Given the description of an element on the screen output the (x, y) to click on. 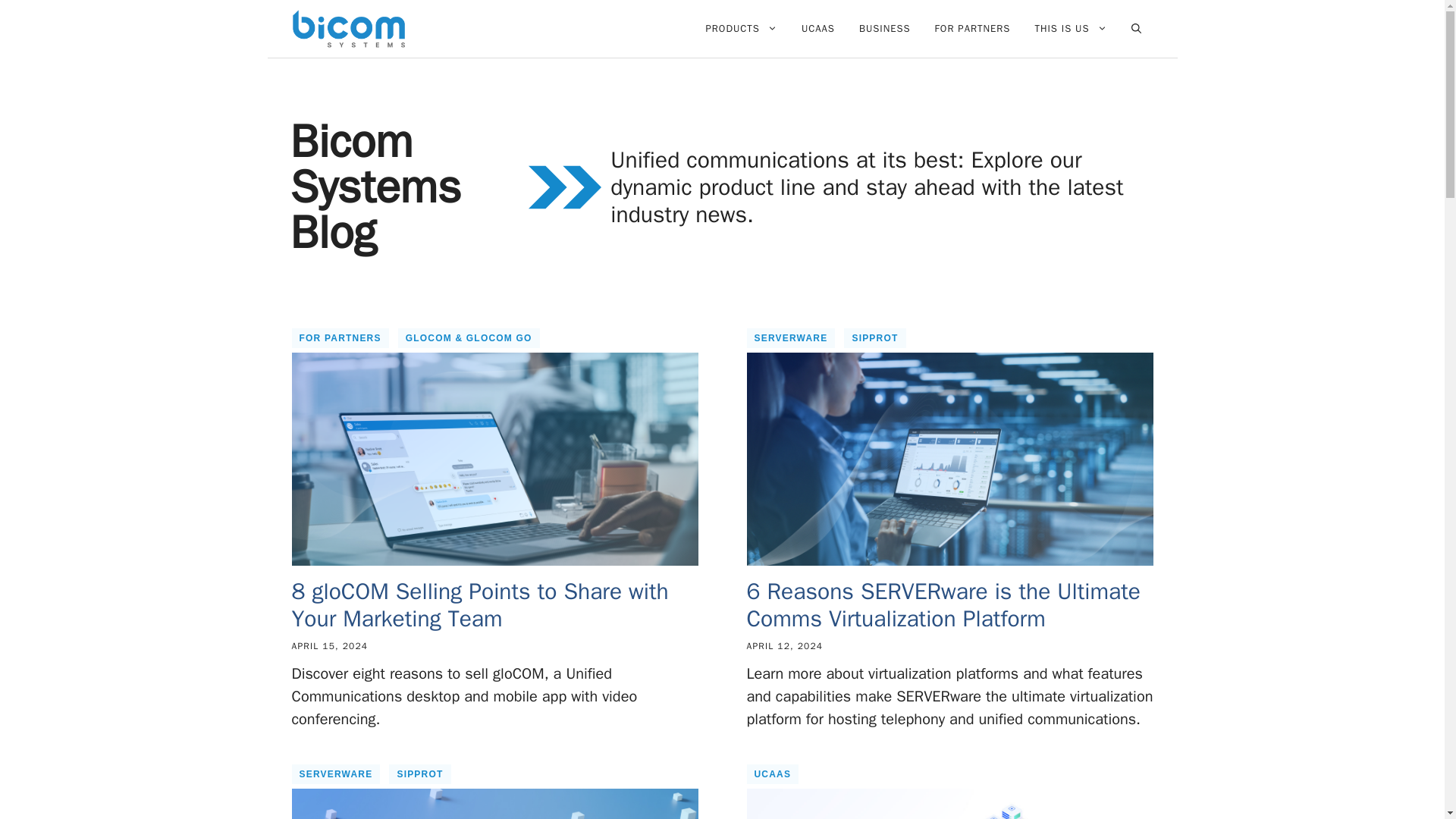
THIS IS US (1070, 28)
FOR PARTNERS (339, 338)
UCAAS (771, 773)
SERVERWARE (789, 338)
SIPPROT (418, 773)
UCAAS (818, 28)
SIPPROT (874, 338)
FOR PARTNERS (973, 28)
PRODUCTS (741, 28)
8 gloCOM Selling Points to Share with Your Marketing Team (479, 605)
SERVERWARE (335, 773)
BUSINESS (885, 28)
